Given the description of an element on the screen output the (x, y) to click on. 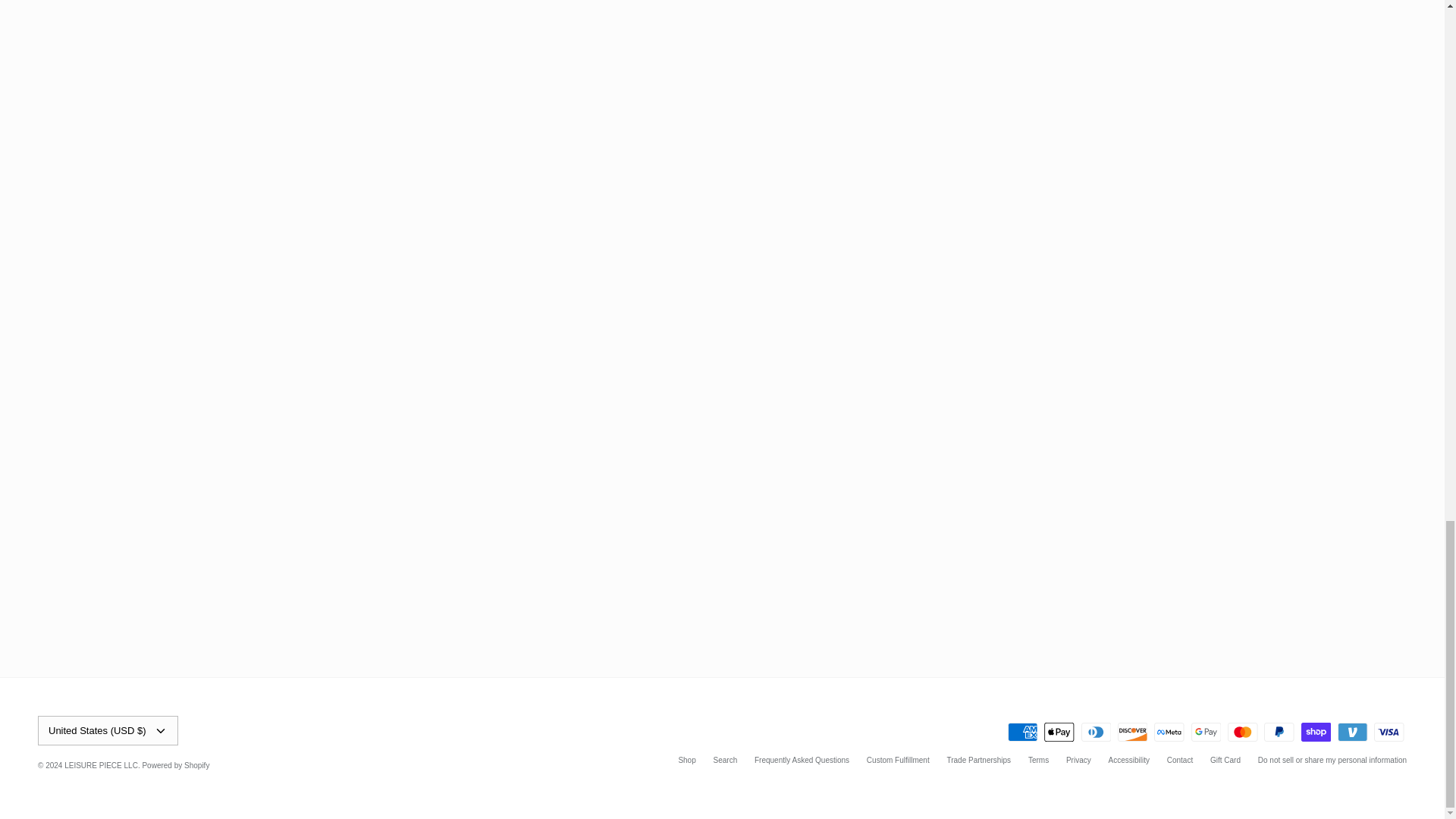
Apple Pay (1058, 732)
Discover (1132, 732)
American Express (1022, 732)
Meta Pay (1168, 732)
Diners Club (1095, 732)
